Given the description of an element on the screen output the (x, y) to click on. 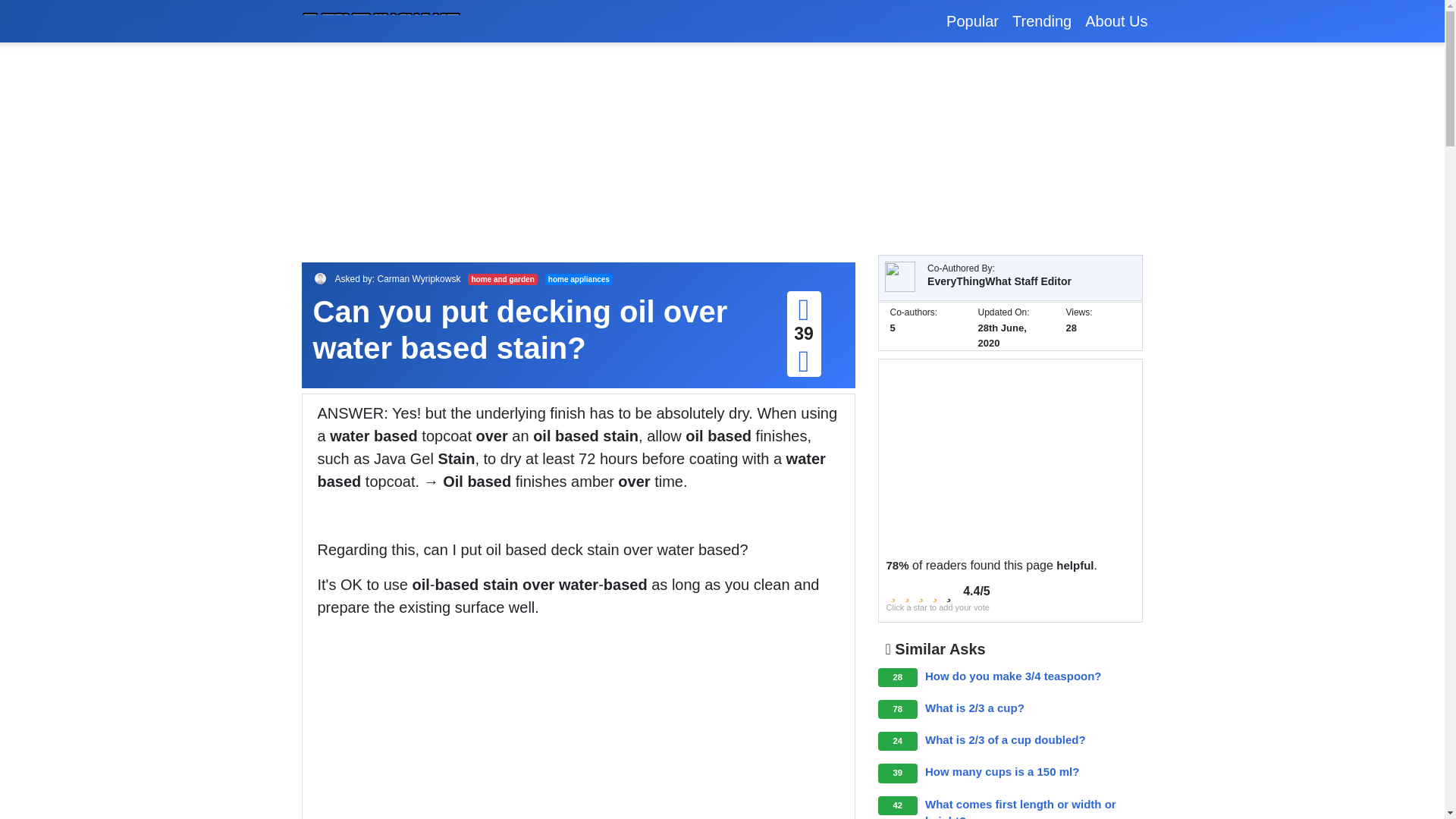
About Us (1116, 21)
Trending (1042, 21)
Popular (972, 21)
